Given the description of an element on the screen output the (x, y) to click on. 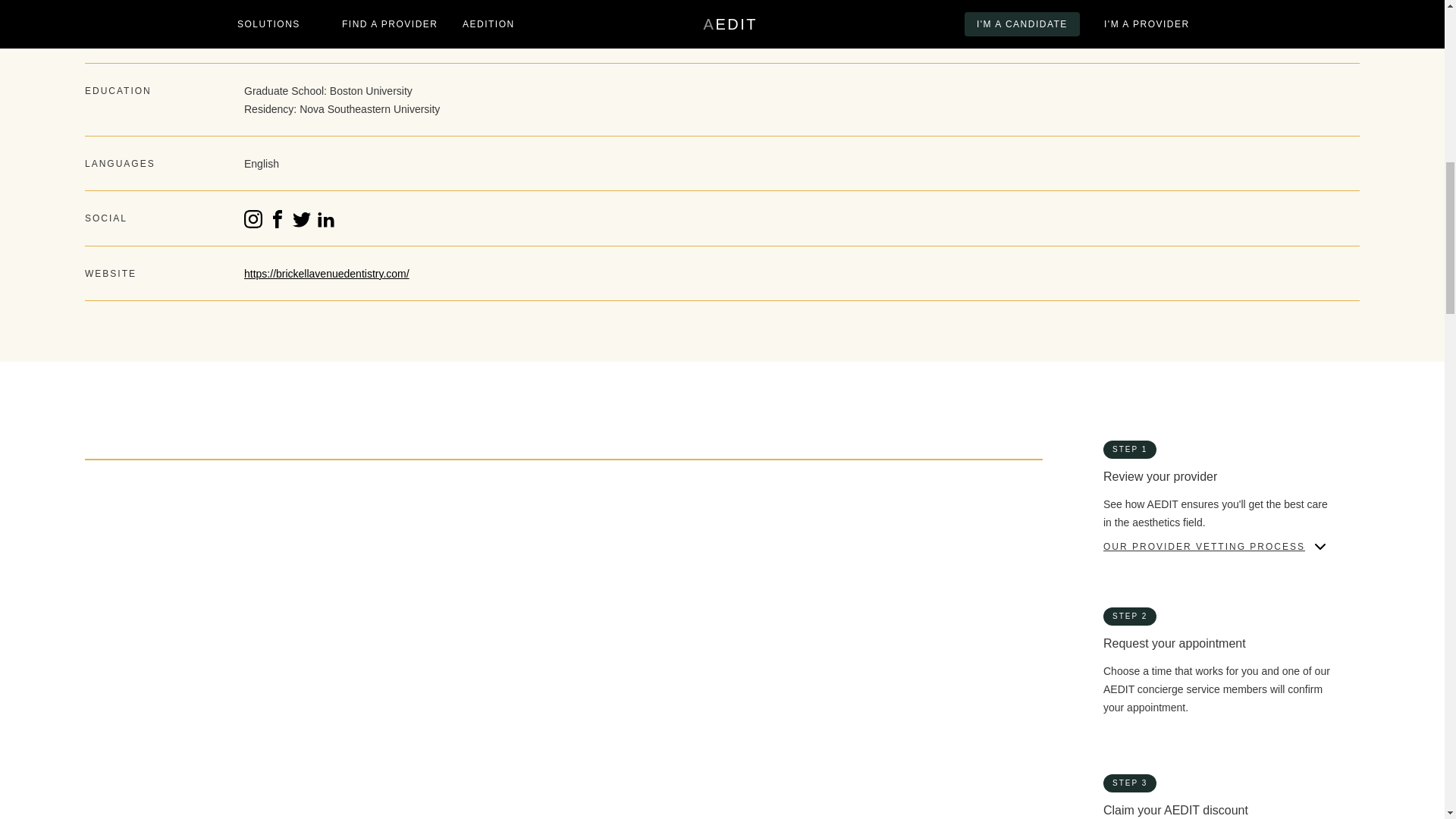
DENTAL CROWNS (782, 678)
GUMMY SMILE (449, 544)
DENTAL BONDING (135, 678)
OPENBITE (438, 578)
OVERBITE (762, 578)
CHIPPED TEETH (455, 511)
DENTAL IMPLANTS (137, 711)
OVERJET (435, 611)
DISCOLORED TEETH (143, 544)
OVERCROWDING (132, 611)
MALFORMED TEETH (789, 544)
DENTAL BRIDGES (458, 678)
DENTAL VENEERS (460, 711)
UNDERBITE (766, 611)
